Given the description of an element on the screen output the (x, y) to click on. 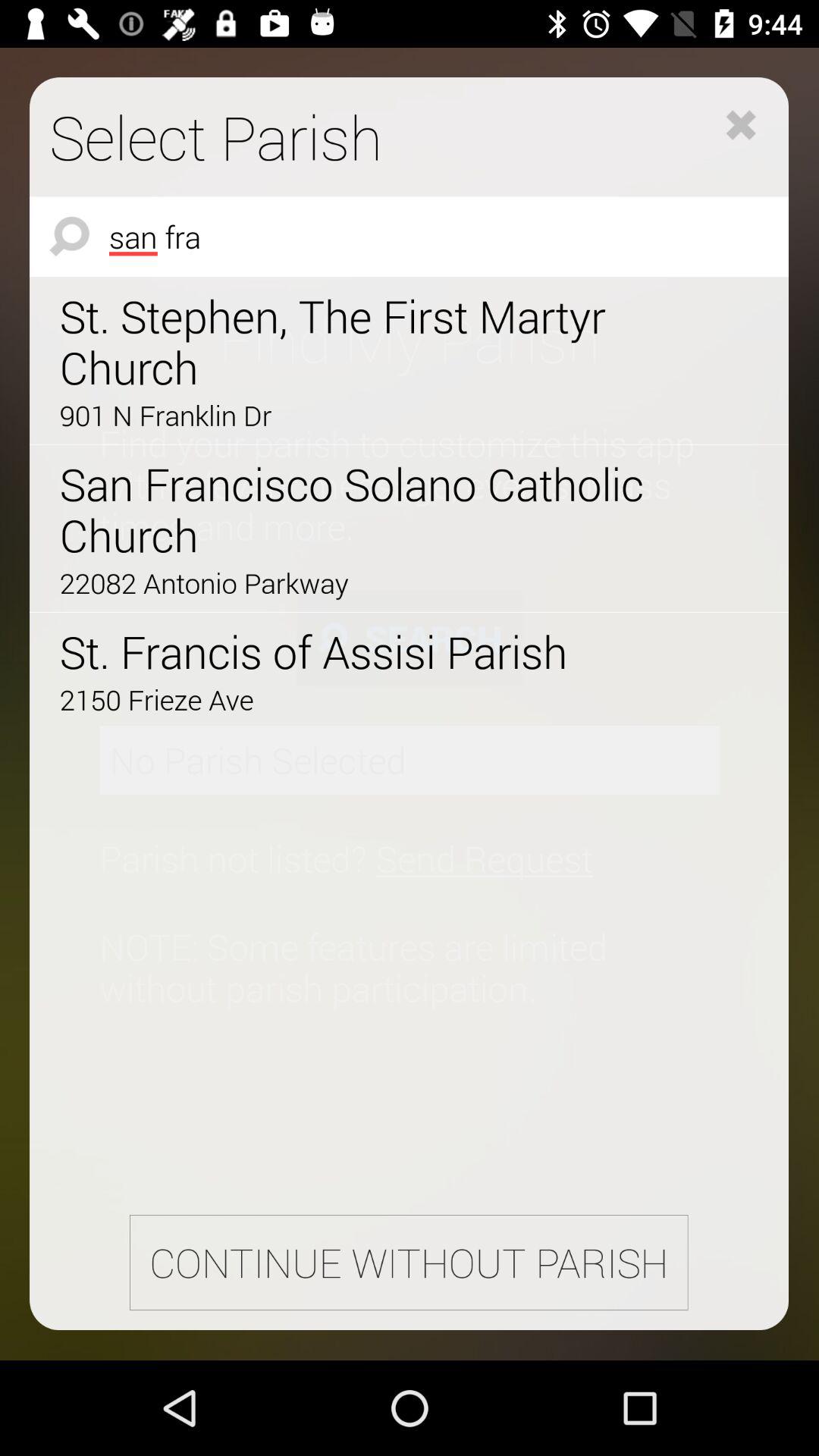
select the icon above san fra icon (740, 124)
